Given the description of an element on the screen output the (x, y) to click on. 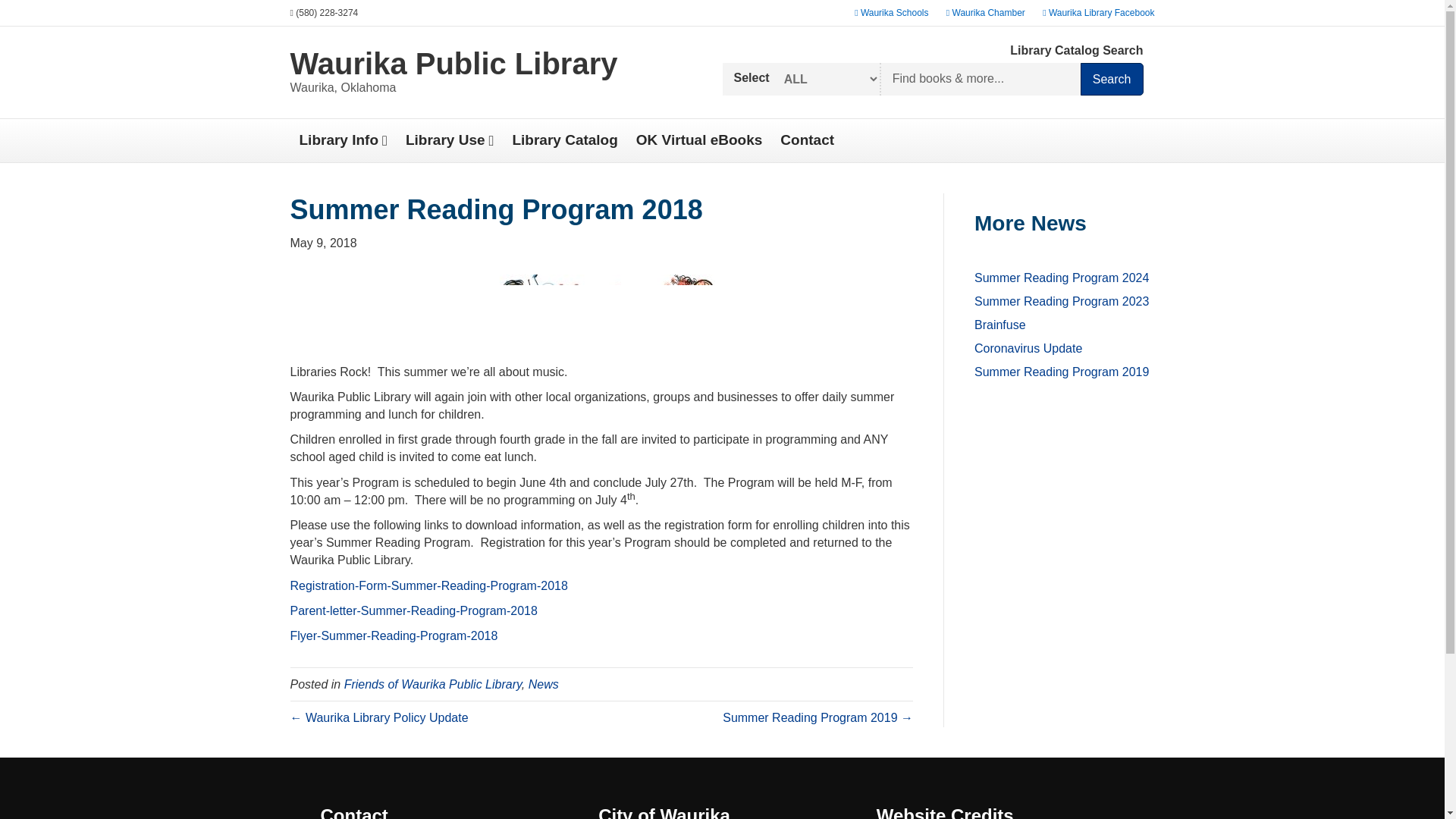
Library Catalog (564, 140)
Search (1111, 79)
Friends of Waurika Public Library (432, 684)
Waurika Public Library (493, 63)
Library Info (342, 140)
Summer Reading Program 2023 (1061, 300)
Registration-Form-Summer-Reading-Program-2018 (428, 585)
Library Use (449, 140)
News (543, 684)
Contact (807, 140)
